Given the description of an element on the screen output the (x, y) to click on. 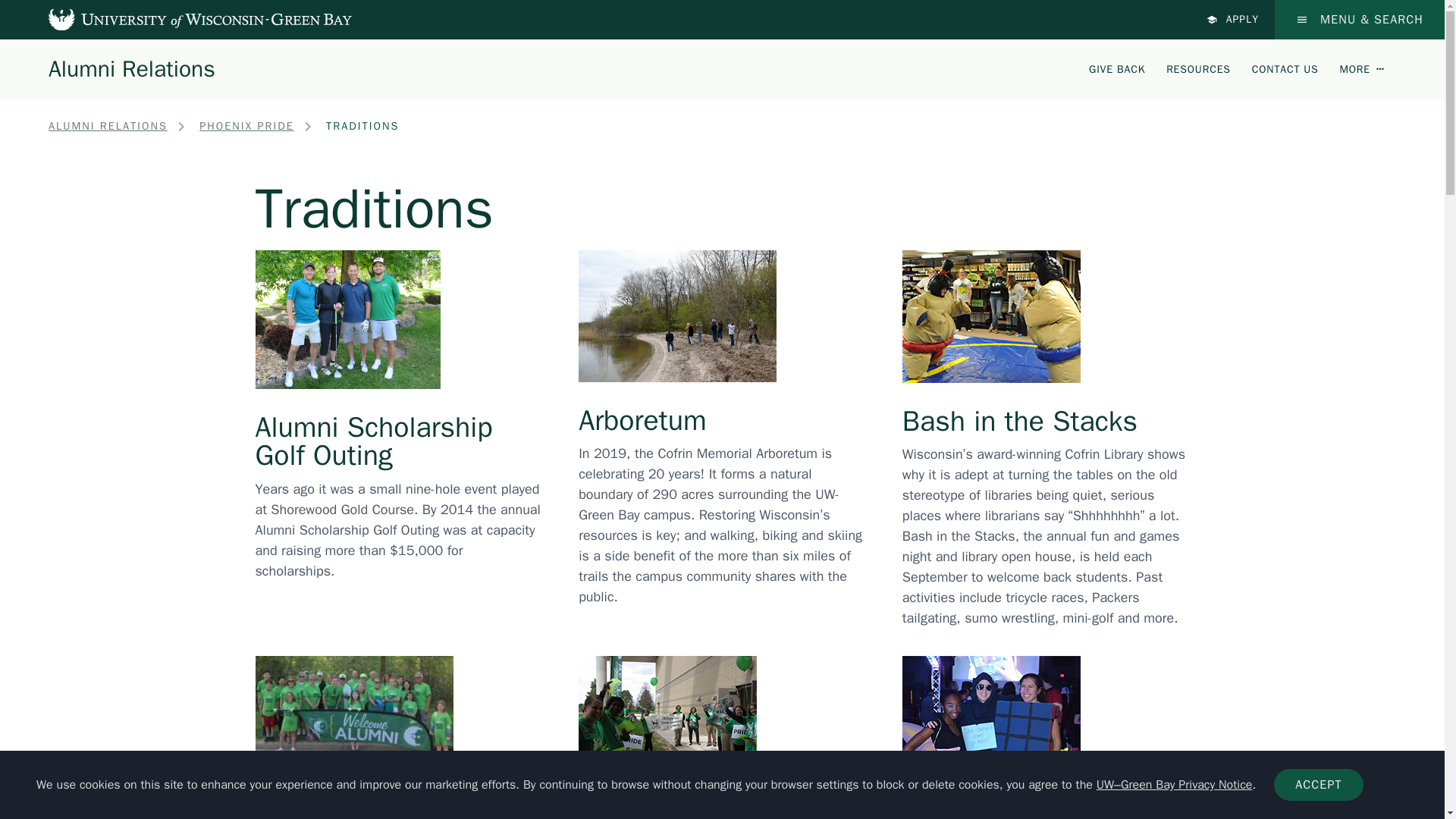
RESOURCES (1198, 68)
CONTACT US (1285, 68)
APPLY (1233, 19)
MORE (1362, 68)
Alumni Relations (131, 68)
Accept (1318, 784)
GIVE BACK (1116, 68)
